Given the description of an element on the screen output the (x, y) to click on. 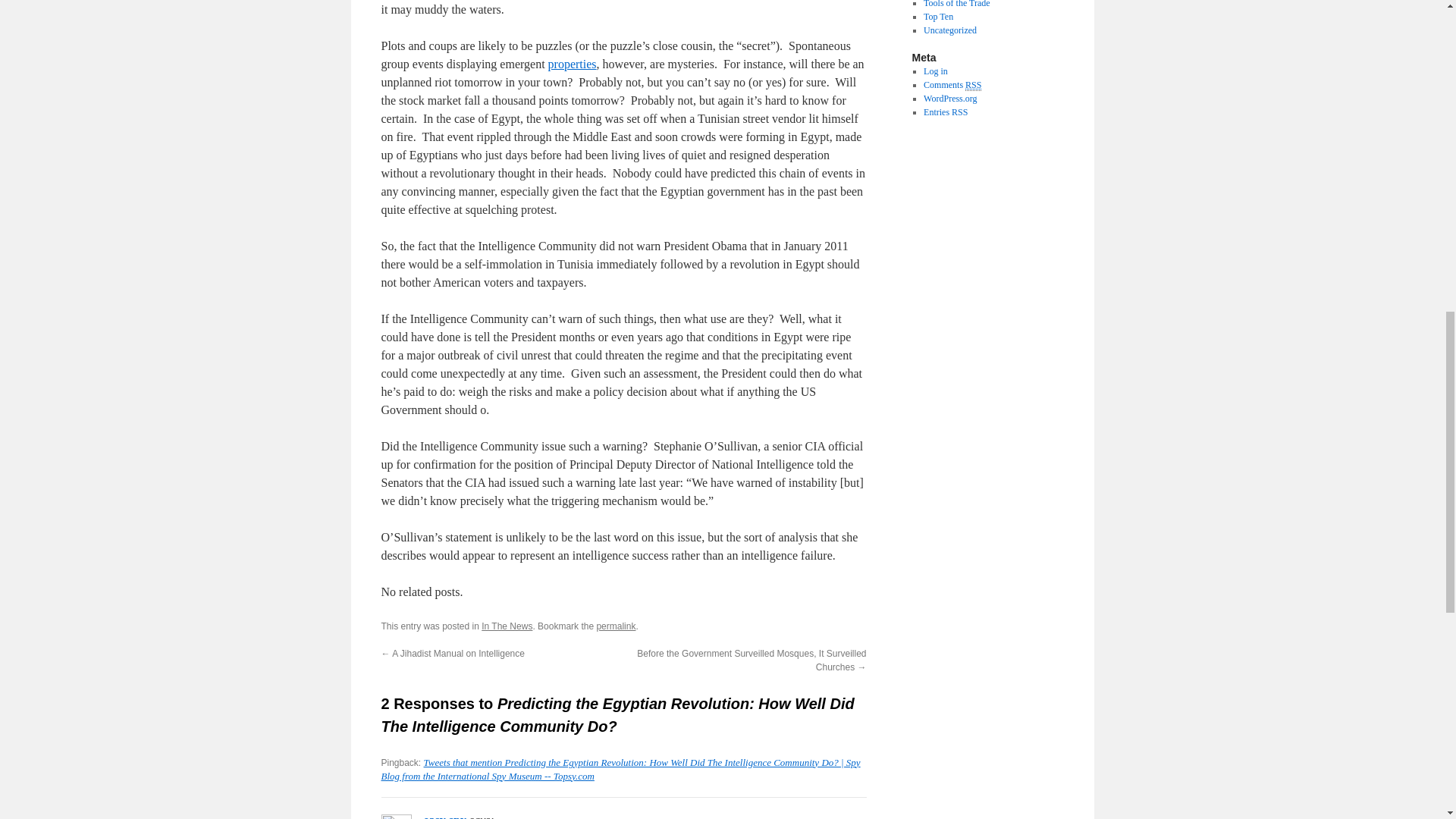
easy spy (444, 816)
Really Simple Syndication (973, 84)
permalink (614, 625)
properties (572, 63)
In The News (506, 625)
